Given the description of an element on the screen output the (x, y) to click on. 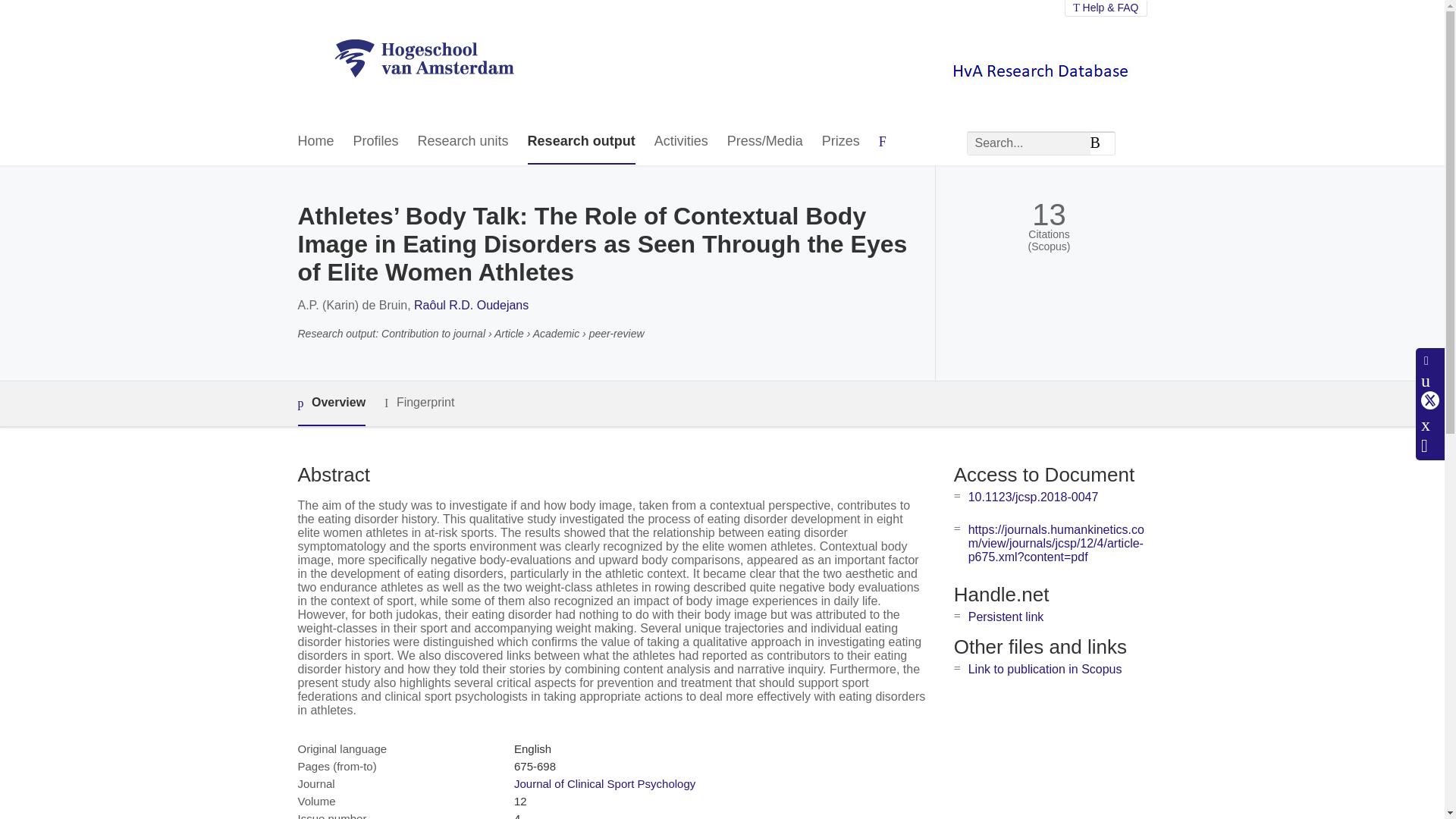
Profiles (375, 141)
Persistent link (1005, 616)
Journal of Clinical Sport Psychology (604, 783)
Research output (580, 141)
Link to publication in Scopus (1045, 668)
Activities (680, 141)
HvA Research Database Home (424, 59)
Fingerprint (419, 403)
Research units (462, 141)
